Given the description of an element on the screen output the (x, y) to click on. 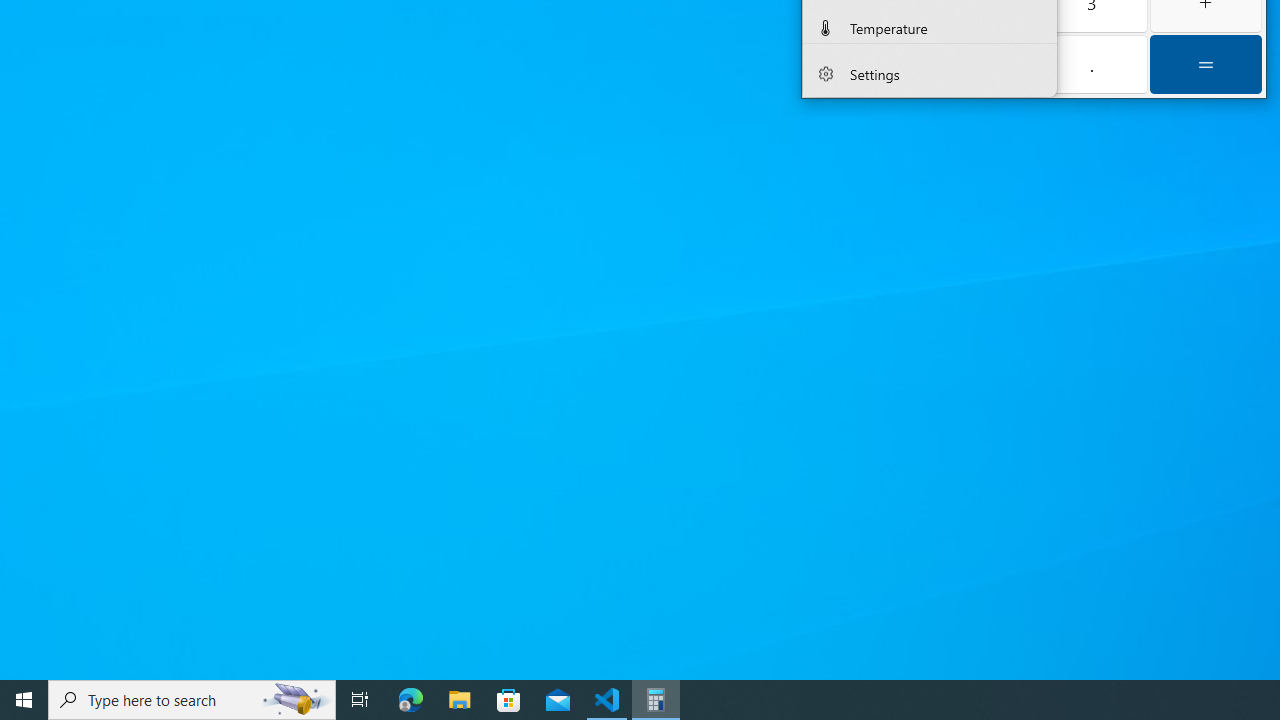
Equals (1205, 64)
Calculator - 1 running window (656, 699)
Positive negative (862, 64)
Settings (929, 74)
Decimal separator (1091, 64)
Vertical Small Increase (1050, 32)
Zero (977, 64)
